Given the description of an element on the screen output the (x, y) to click on. 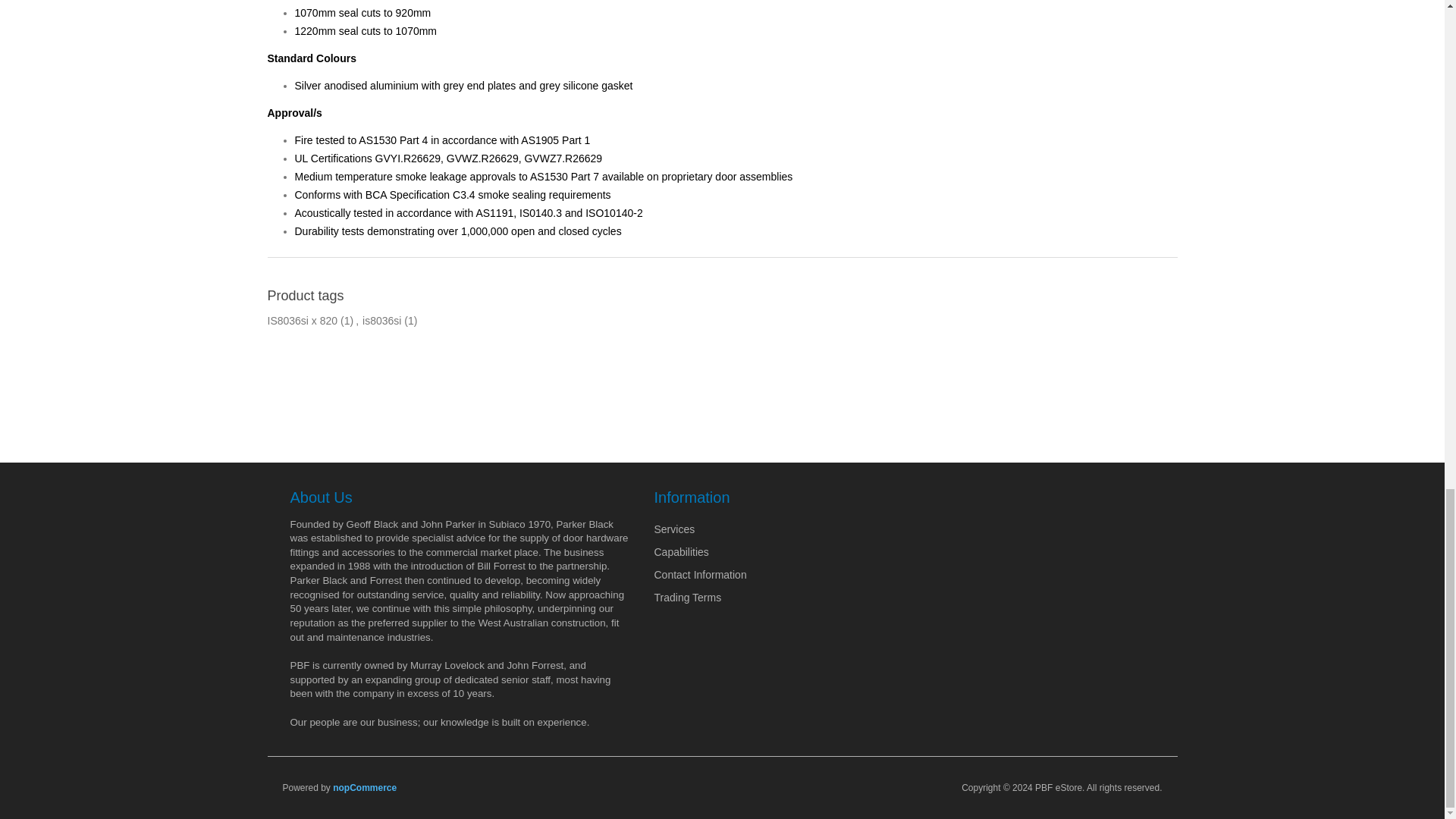
Contact Information (699, 573)
is8036si (381, 321)
Trading Terms (686, 596)
Capabilities (680, 551)
Services (673, 528)
IS8036si x 820 (301, 321)
nopCommerce (364, 787)
